Given the description of an element on the screen output the (x, y) to click on. 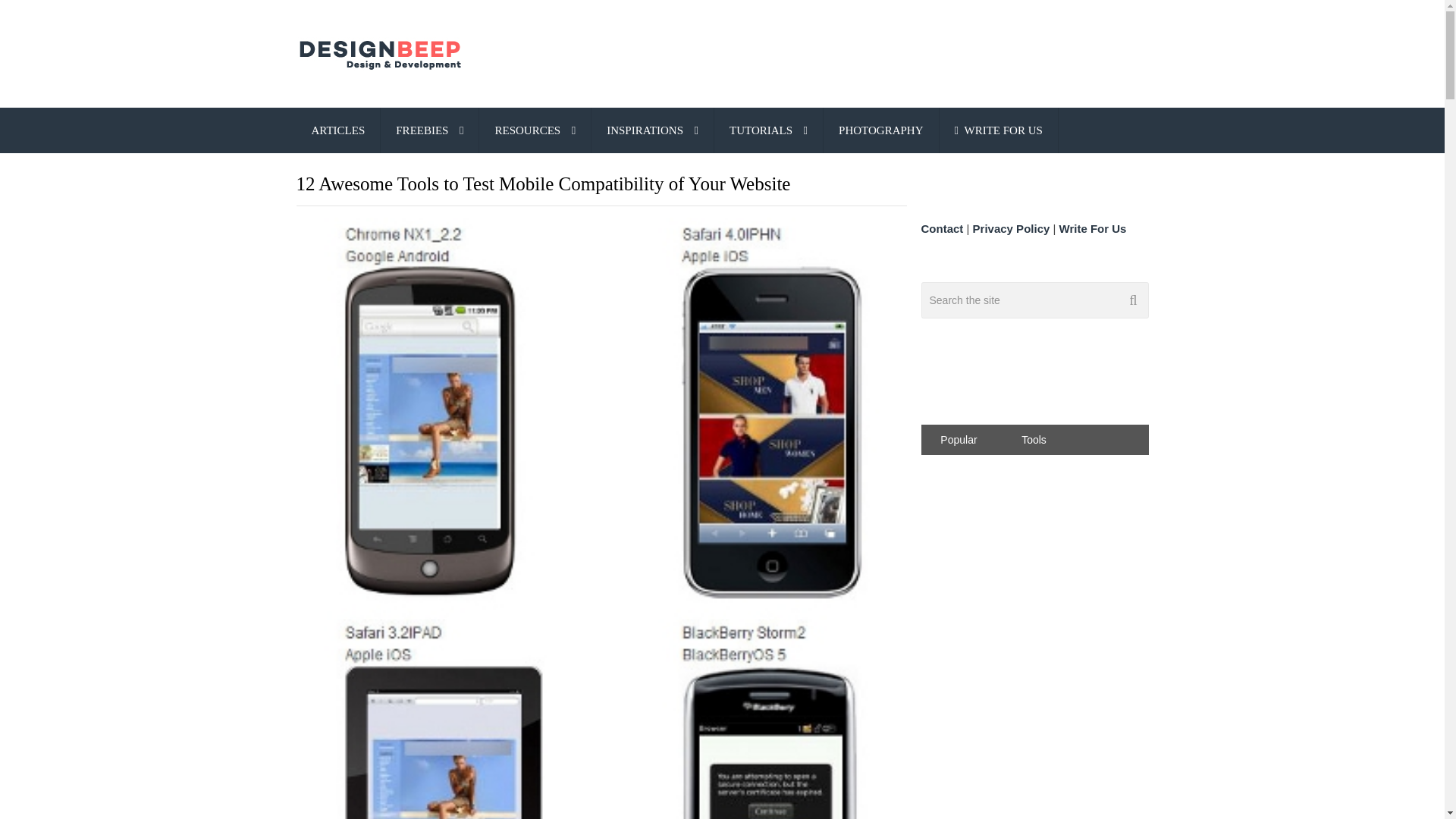
FREEBIES (429, 130)
INSPIRATIONS (652, 130)
PHOTOGRAPHY (880, 130)
ARTICLES (337, 130)
TUTORIALS (768, 130)
RESOURCES (535, 130)
WRITE FOR US (998, 130)
